Given the description of an element on the screen output the (x, y) to click on. 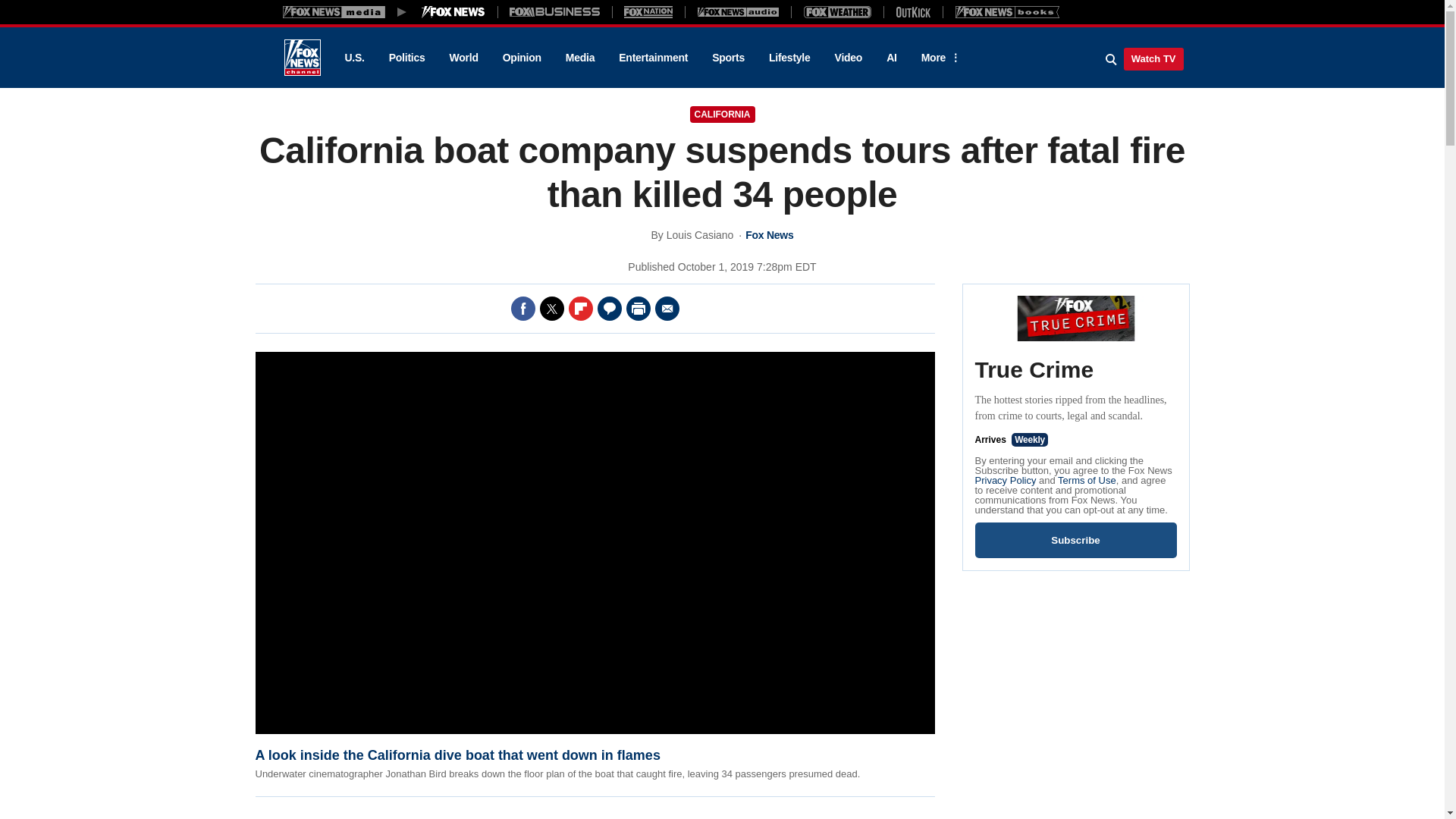
Entertainment (653, 57)
Sports (728, 57)
Media (580, 57)
Outkick (912, 11)
Lifestyle (789, 57)
World (464, 57)
Fox News Audio (737, 11)
Fox News (301, 57)
Fox Business (554, 11)
U.S. (353, 57)
AI (891, 57)
Video (848, 57)
Opinion (521, 57)
Fox Nation (648, 11)
Fox Weather (836, 11)
